Given the description of an element on the screen output the (x, y) to click on. 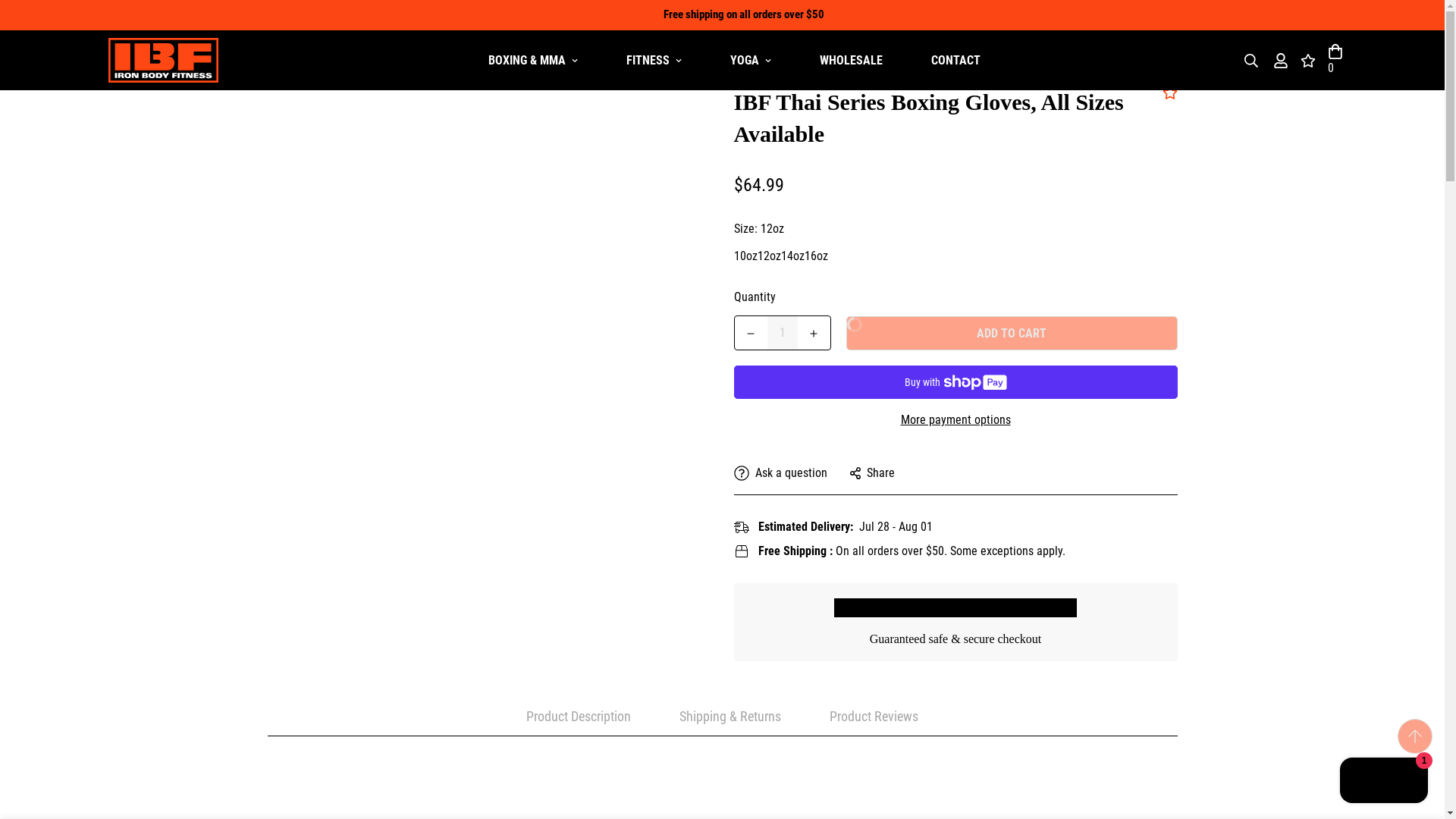
FITNESS (654, 60)
Iron Body Fitness (161, 60)
1 (782, 332)
Shipping Policy (1006, 550)
Back to the home page (268, 51)
Shopify online store chat (1383, 781)
